Given the description of an element on the screen output the (x, y) to click on. 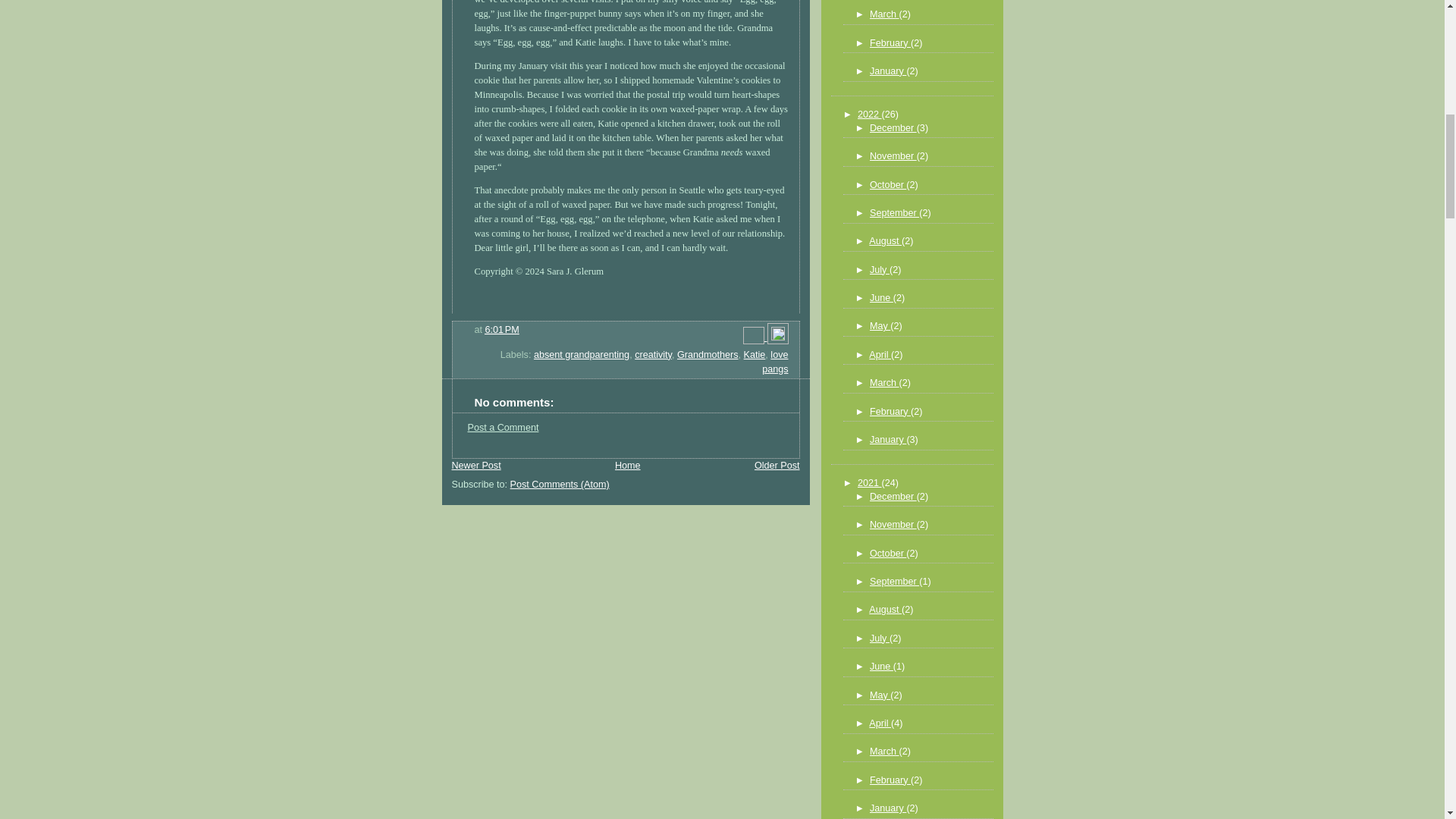
Edit Post (778, 337)
Katie (754, 354)
love pangs (774, 361)
Newer Post (475, 465)
Newer Post (475, 465)
permanent link (501, 329)
Email Post (754, 337)
Grandmothers (707, 354)
Older Post (776, 465)
Home (627, 465)
Older Post (776, 465)
creativity (652, 354)
Post a Comment (502, 427)
absent grandparenting (581, 354)
